Given the description of an element on the screen output the (x, y) to click on. 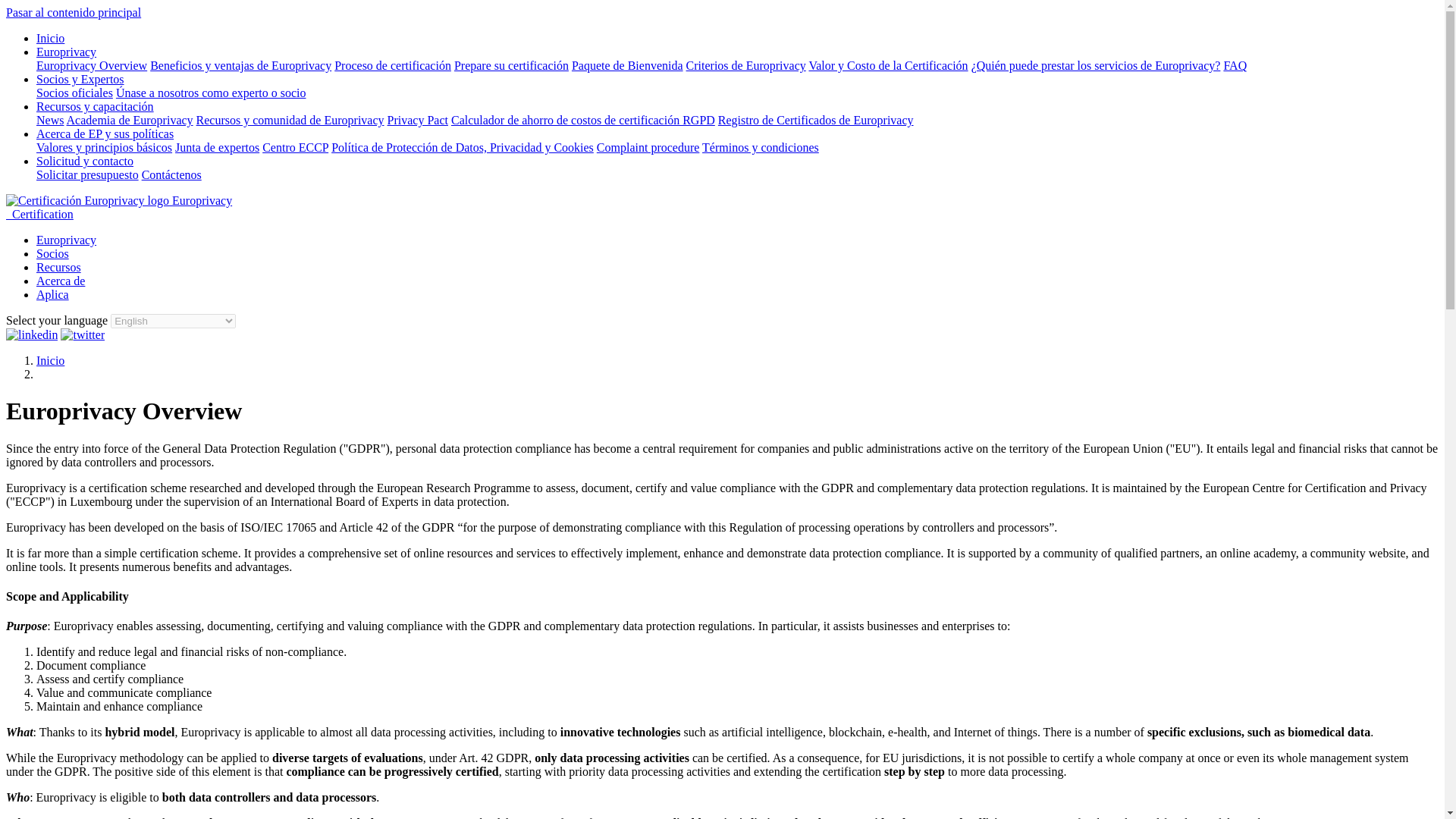
Recursos (58, 267)
Privacy Pact (417, 119)
Recursos y comunidad de Europrivacy (290, 119)
Inicio (50, 38)
FAQ (1234, 65)
Pasar al contenido principal (73, 11)
Socios oficiales (74, 92)
Centro ECCP (295, 146)
Europrivacy (66, 51)
Junta Internacional de Expertos de Europrivacy (216, 146)
News (50, 119)
Aplica (52, 294)
Acerca de (60, 280)
Europrivacy Overview (91, 65)
Complaint procedure (648, 146)
